Given the description of an element on the screen output the (x, y) to click on. 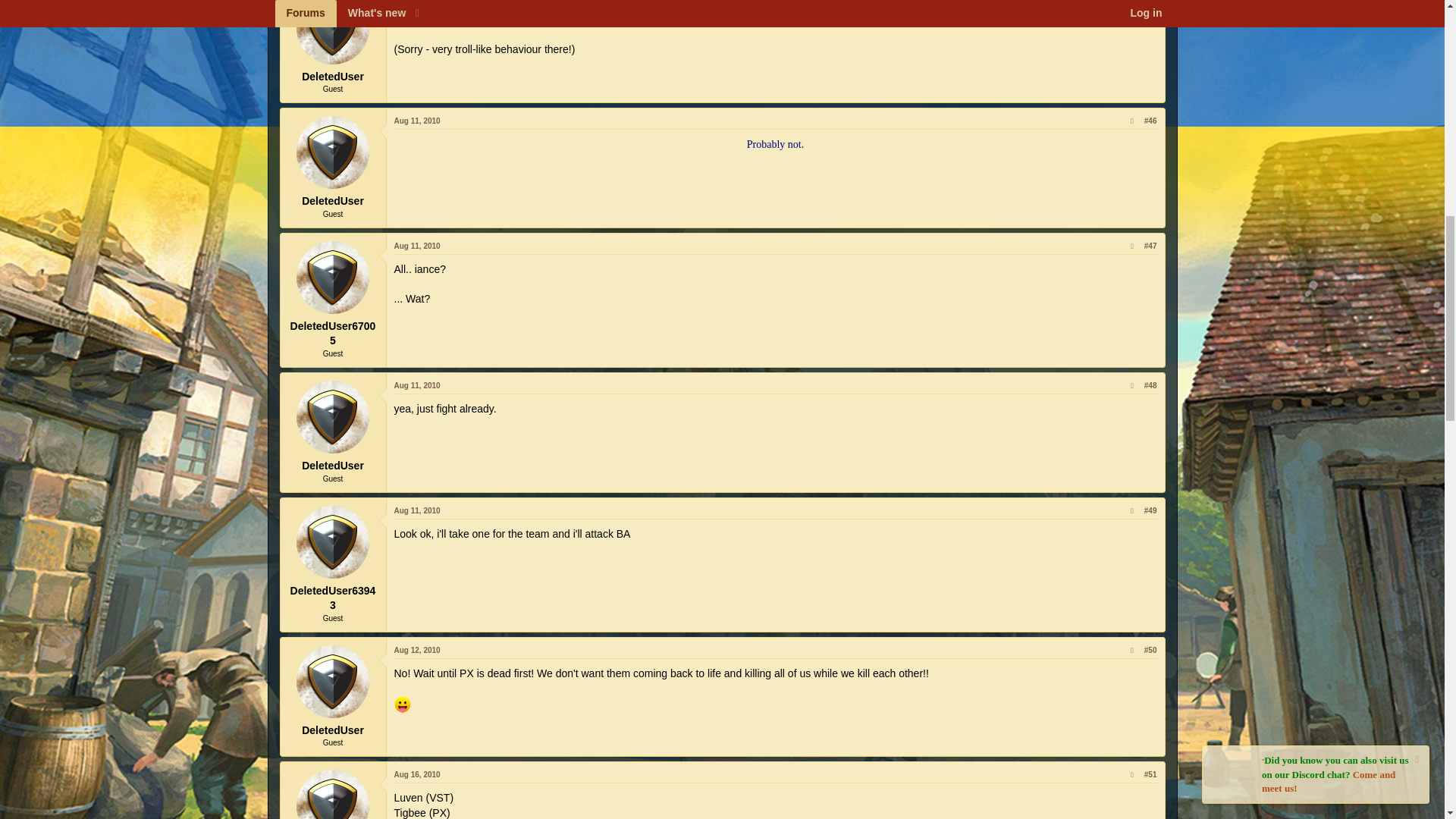
Aug 10, 2010 at 6:41 PM (417, 0)
DeletedUser (333, 32)
Aug 11, 2010 at 2:23 AM (417, 245)
DeletedUser (333, 152)
DeletedUser67005 (333, 276)
Aug 11, 2010 at 2:18 AM (417, 121)
